Given the description of an element on the screen output the (x, y) to click on. 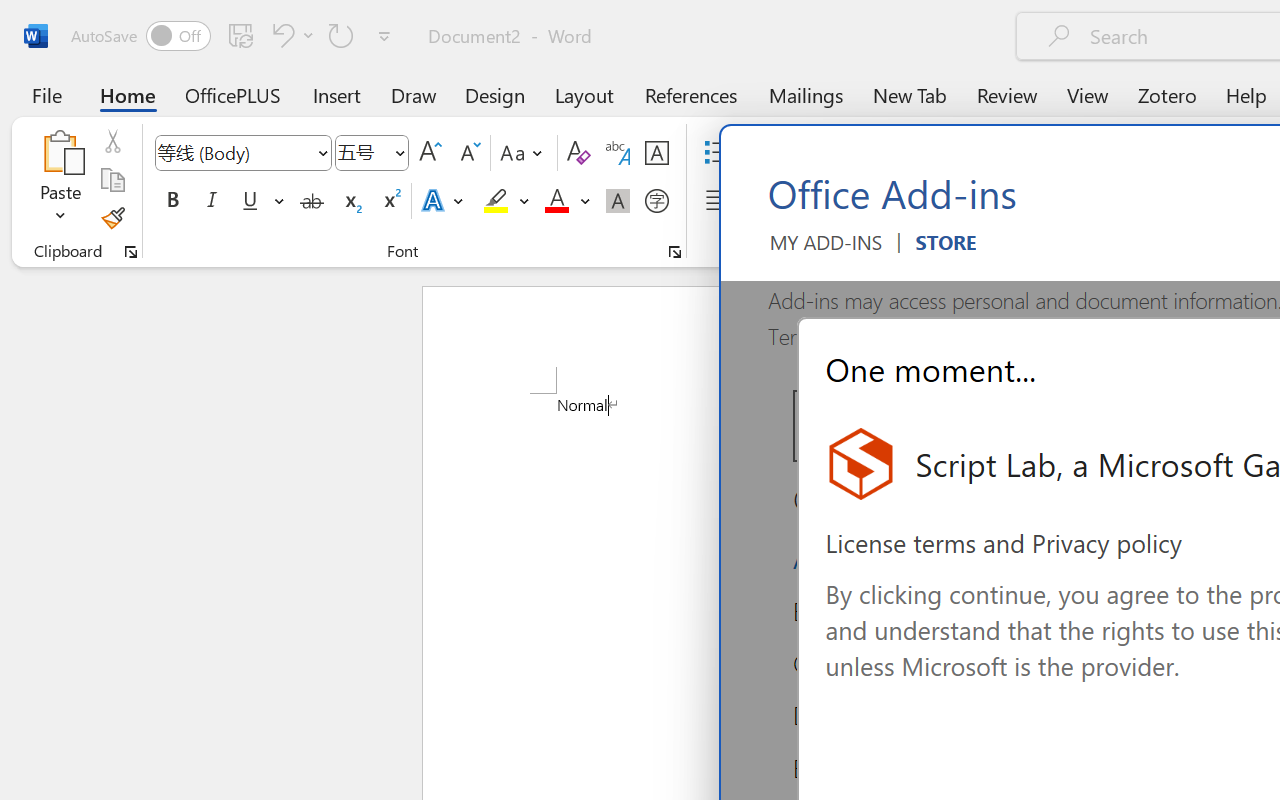
Insert (337, 94)
Layout (584, 94)
MY ADD-INS (825, 249)
File Tab (46, 94)
Format Painter (112, 218)
Undo Apply Quick Style (280, 35)
OfficePLUS (233, 94)
STORE (945, 249)
Home (127, 94)
Font Size (372, 153)
Phonetic Guide... (618, 153)
Save (241, 35)
Font Size (362, 152)
